Given the description of an element on the screen output the (x, y) to click on. 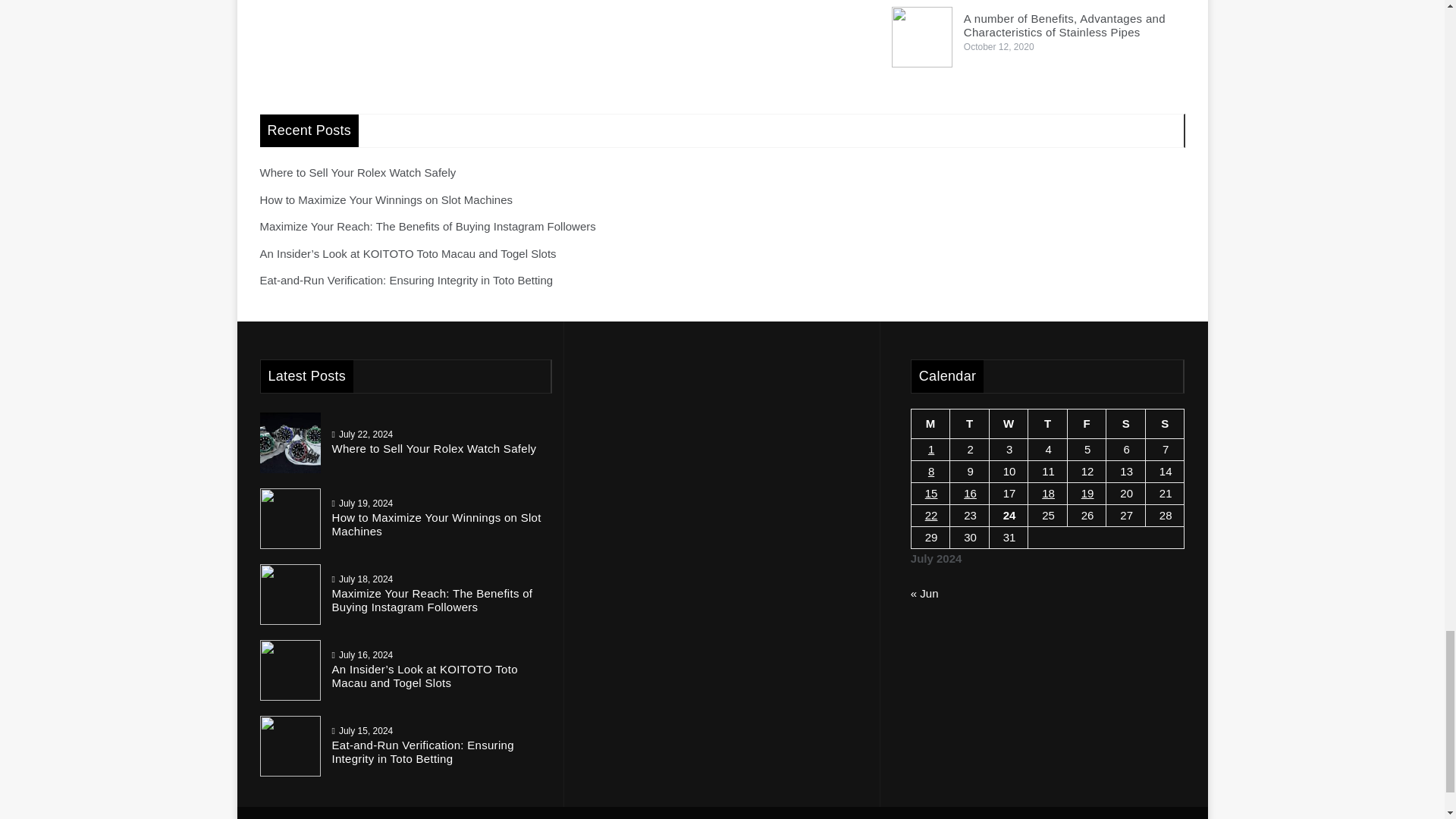
Friday (1086, 423)
Monday (930, 423)
Thursday (1047, 423)
Sunday (1164, 423)
Wednesday (1007, 423)
Tuesday (970, 423)
Saturday (1125, 423)
